Given the description of an element on the screen output the (x, y) to click on. 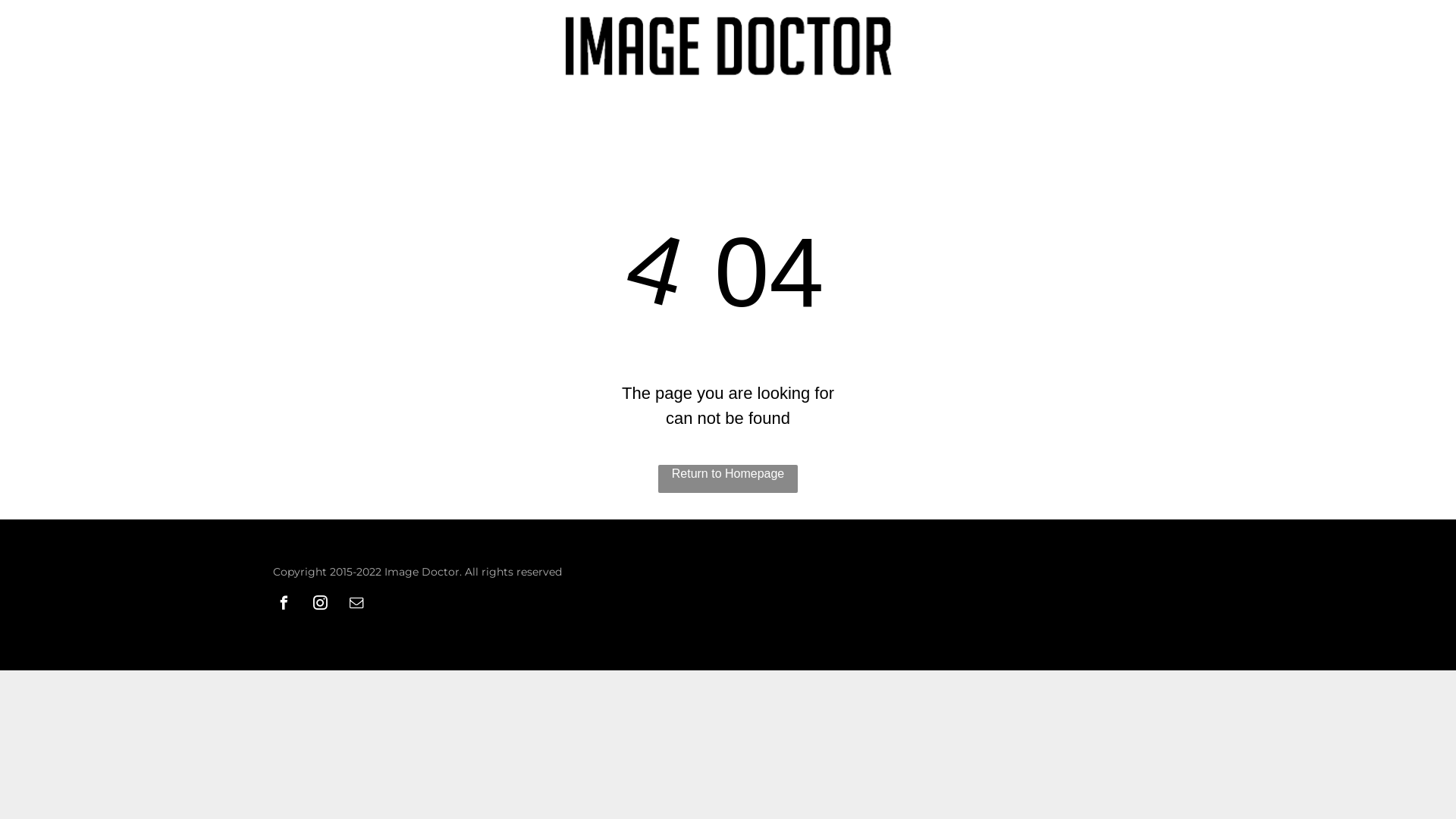
Return to Homepage Element type: text (727, 478)
